Given the description of an element on the screen output the (x, y) to click on. 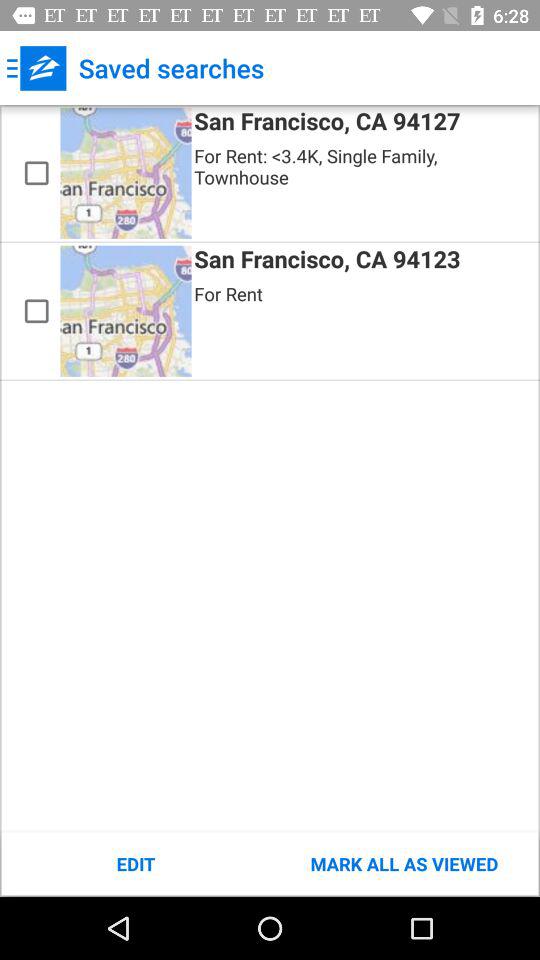
turn on edit icon (135, 863)
